Given the description of an element on the screen output the (x, y) to click on. 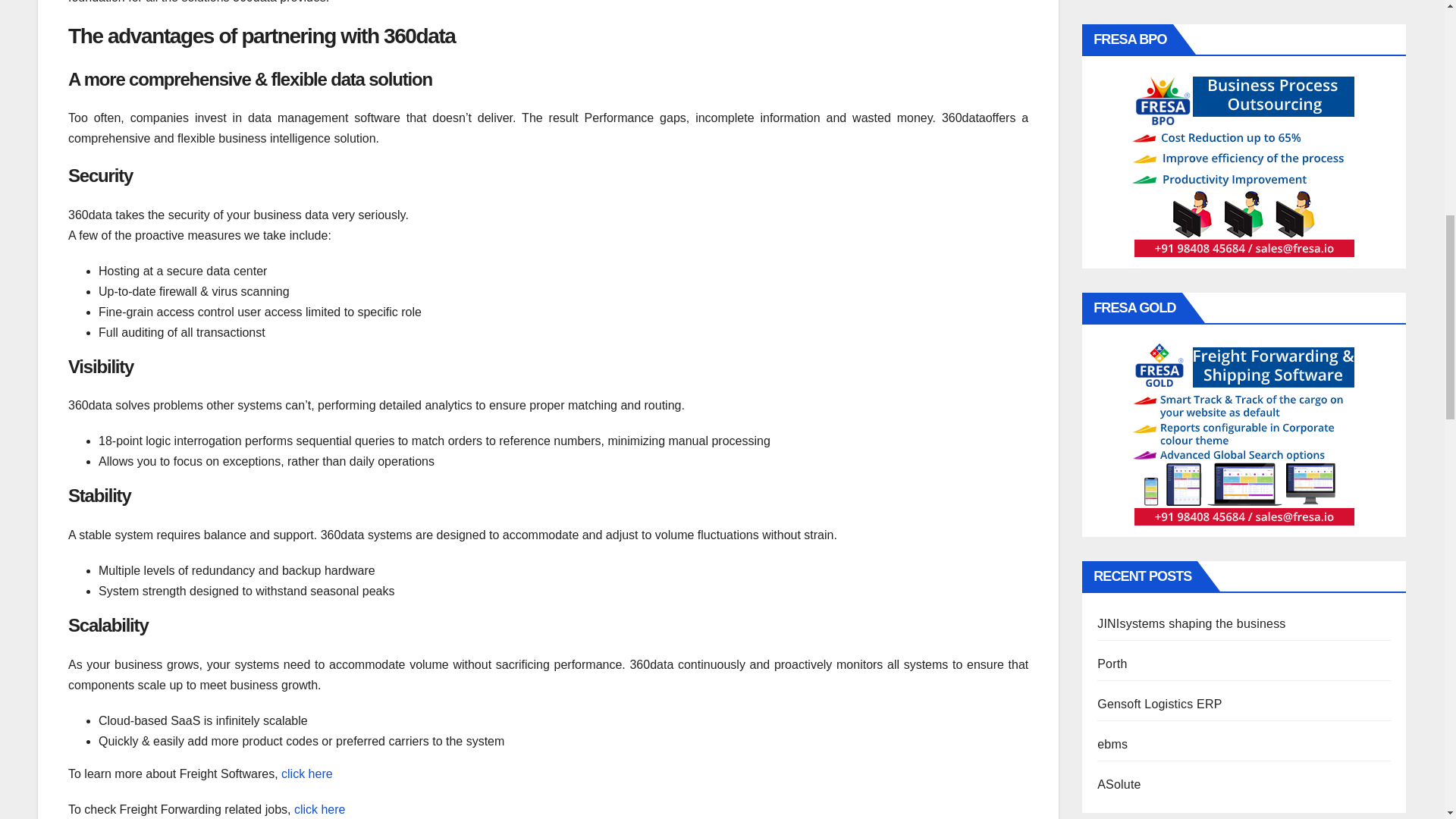
Freight Jobs (317, 809)
click here (307, 773)
Freight Softwares (307, 773)
click here (317, 809)
